Given the description of an element on the screen output the (x, y) to click on. 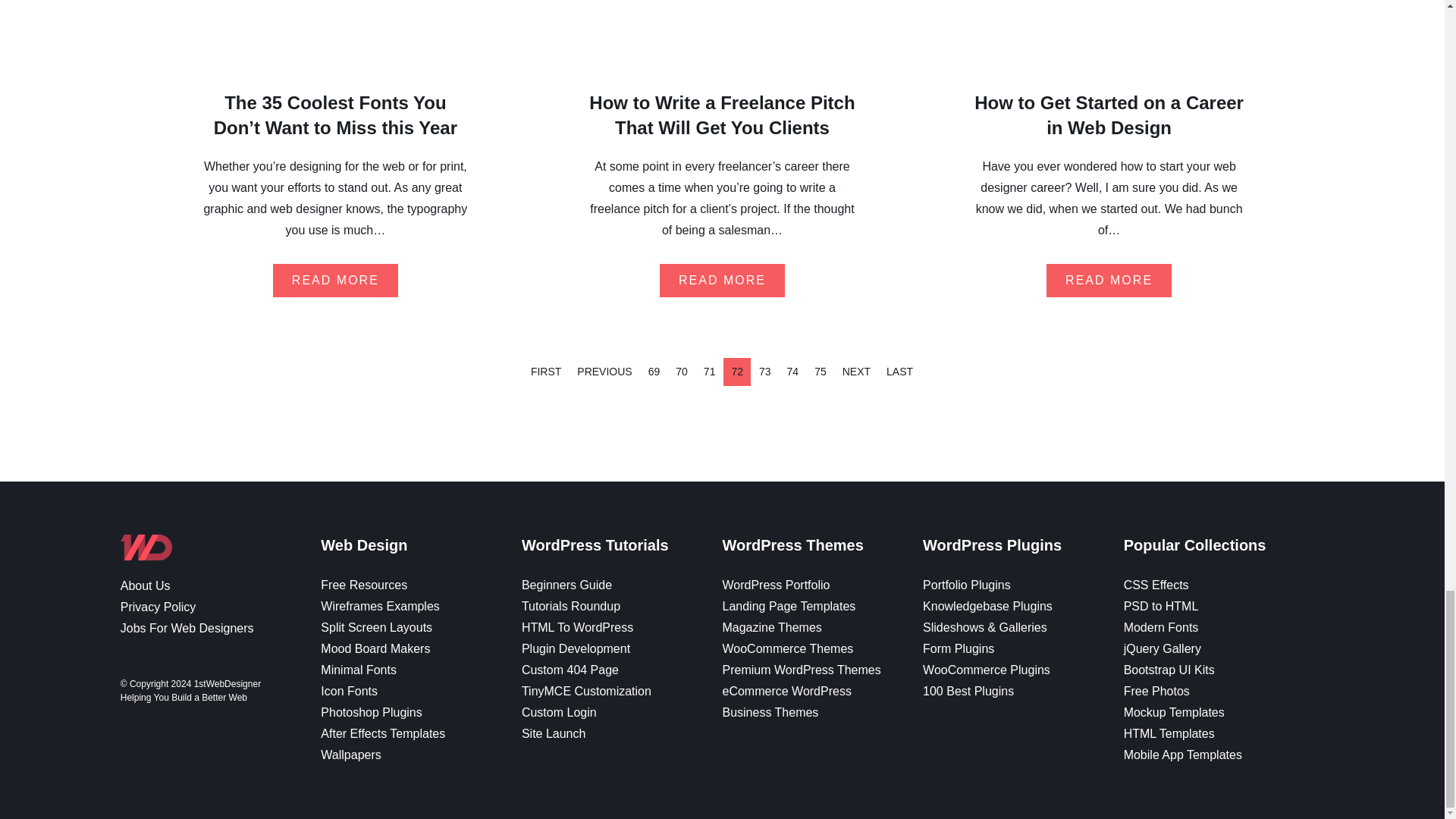
How to Get Started on a Career in Web Design (1108, 115)
First (545, 371)
Last (899, 371)
1stWebDesigner (145, 553)
How to Write a Freelance Pitch That Will Get You Clients (721, 115)
